Given the description of an element on the screen output the (x, y) to click on. 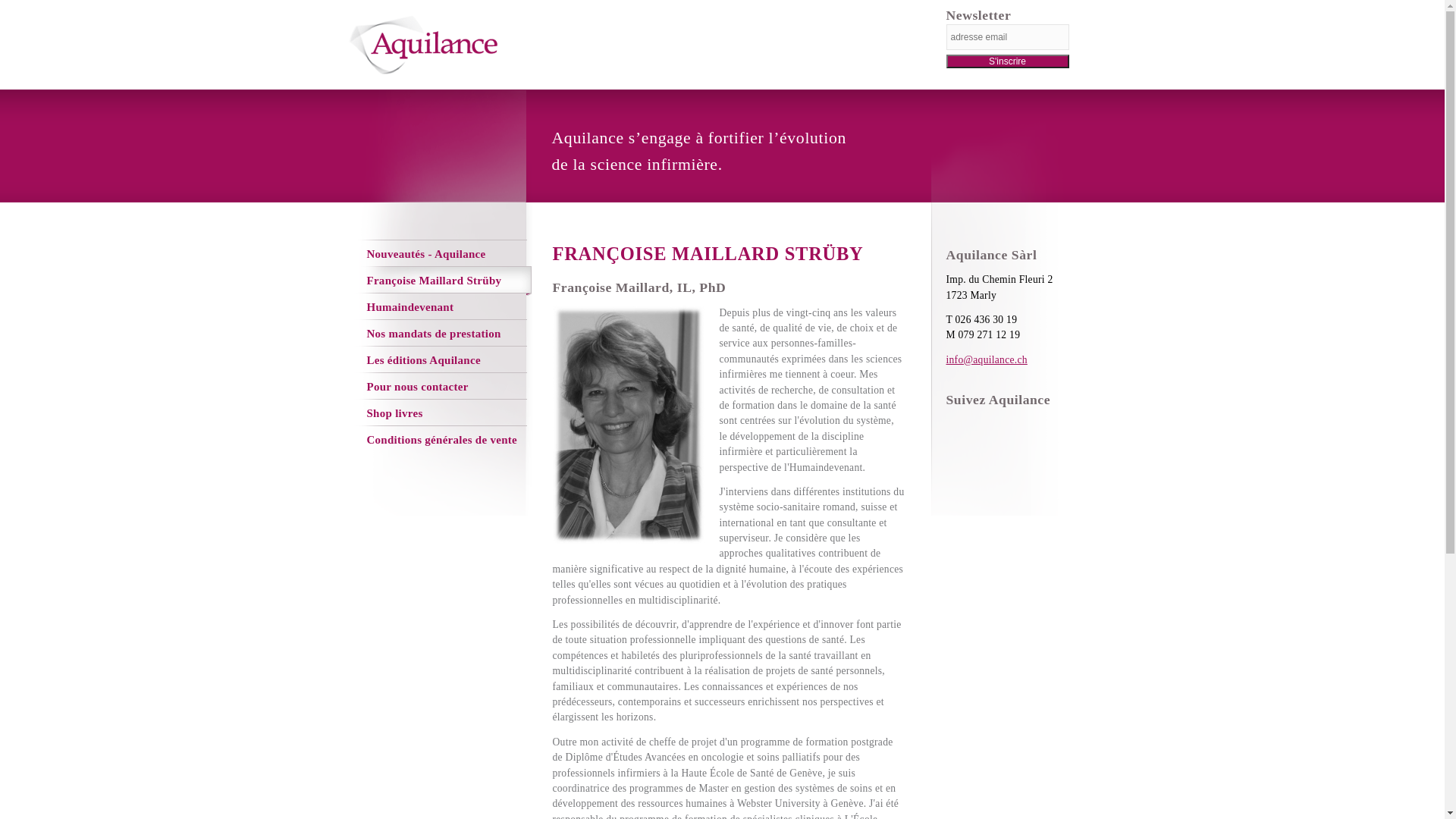
Humaindevenant Element type: text (434, 307)
Shop livres Element type: text (434, 413)
info@aquilance.ch Element type: text (986, 359)
Nos mandats de prestation Element type: text (434, 333)
Pour nous contacter Element type: text (434, 386)
aquilance.ch Element type: text (422, 71)
S'inscrire Element type: text (1007, 61)
